Given the description of an element on the screen output the (x, y) to click on. 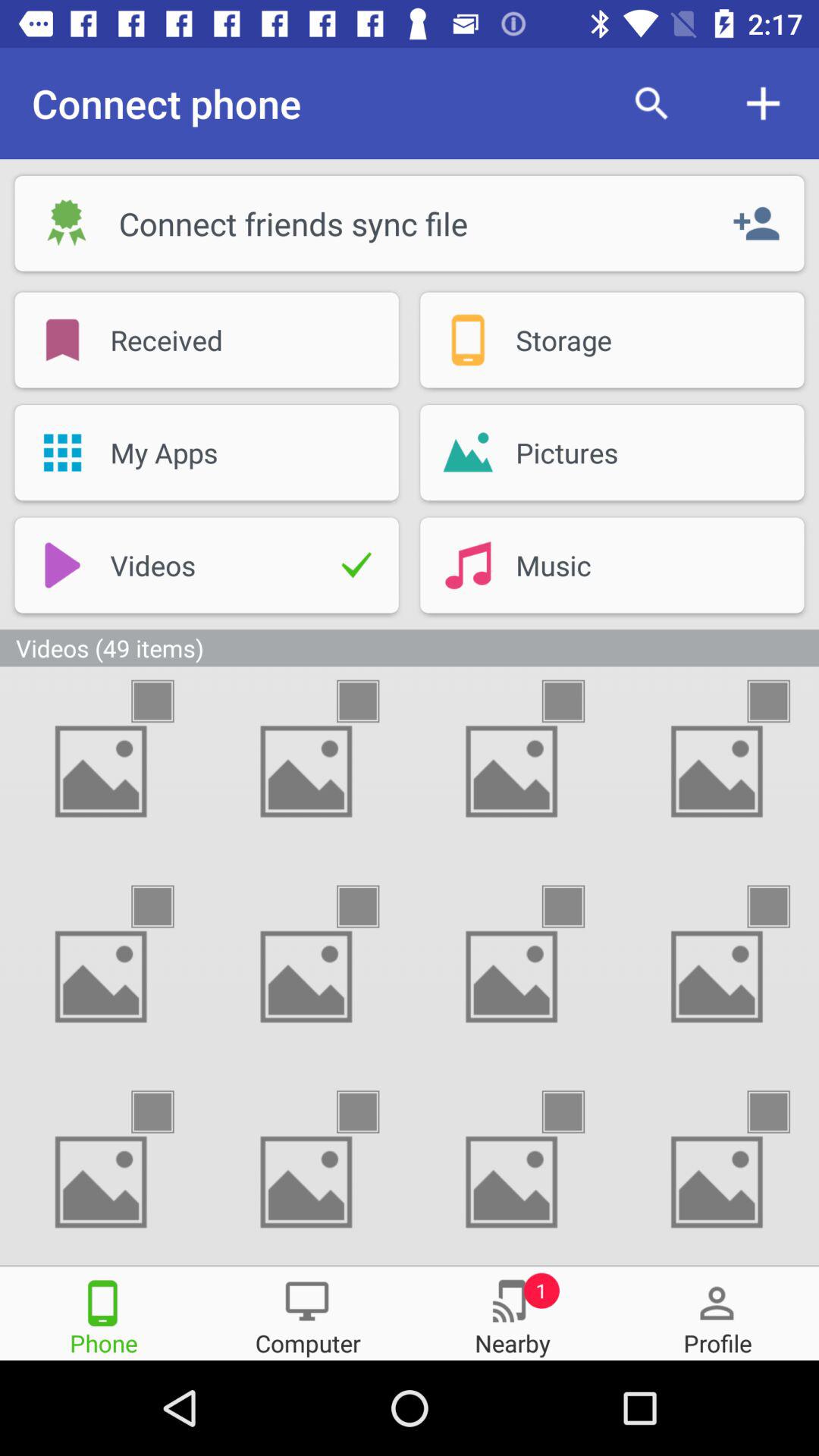
select this video item (782, 700)
